Given the description of an element on the screen output the (x, y) to click on. 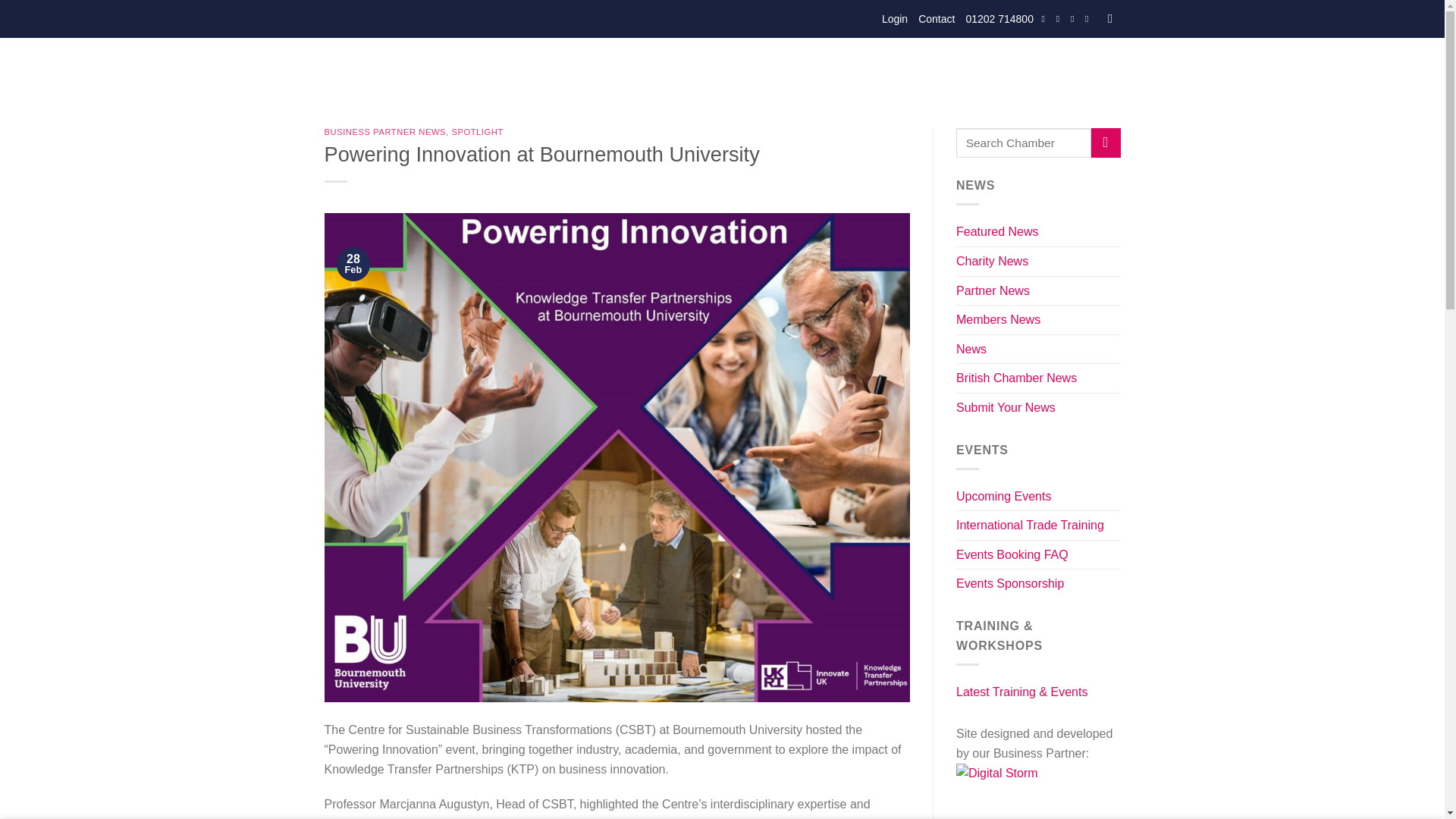
01202 714800 (999, 18)
Membership (683, 71)
Digital Storm (1031, 788)
About (559, 71)
Events (613, 71)
Contact (936, 18)
